Given the description of an element on the screen output the (x, y) to click on. 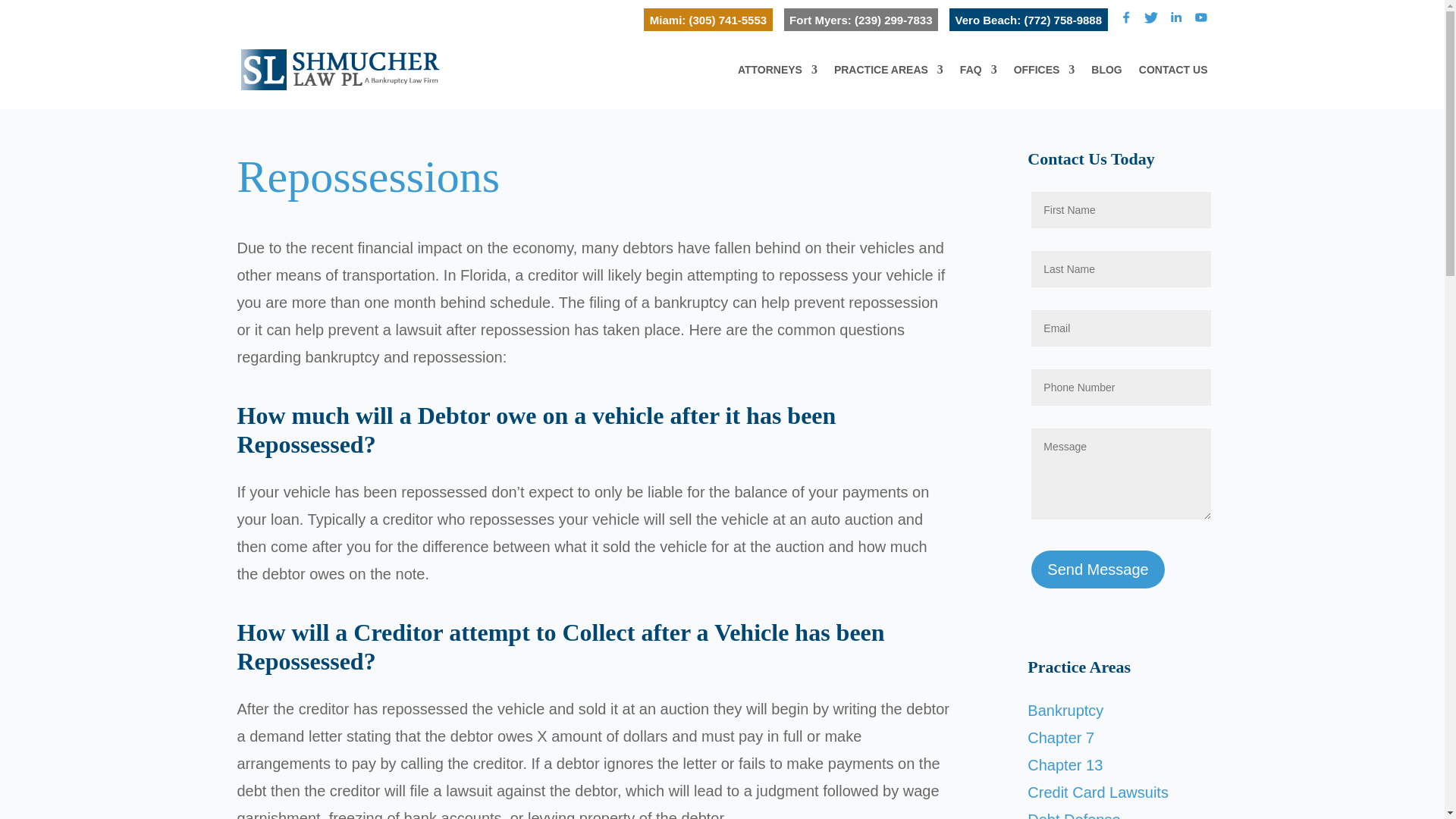
Send Message (1096, 569)
PRACTICE AREAS (888, 86)
ATTORNEYS (777, 86)
